Given the description of an element on the screen output the (x, y) to click on. 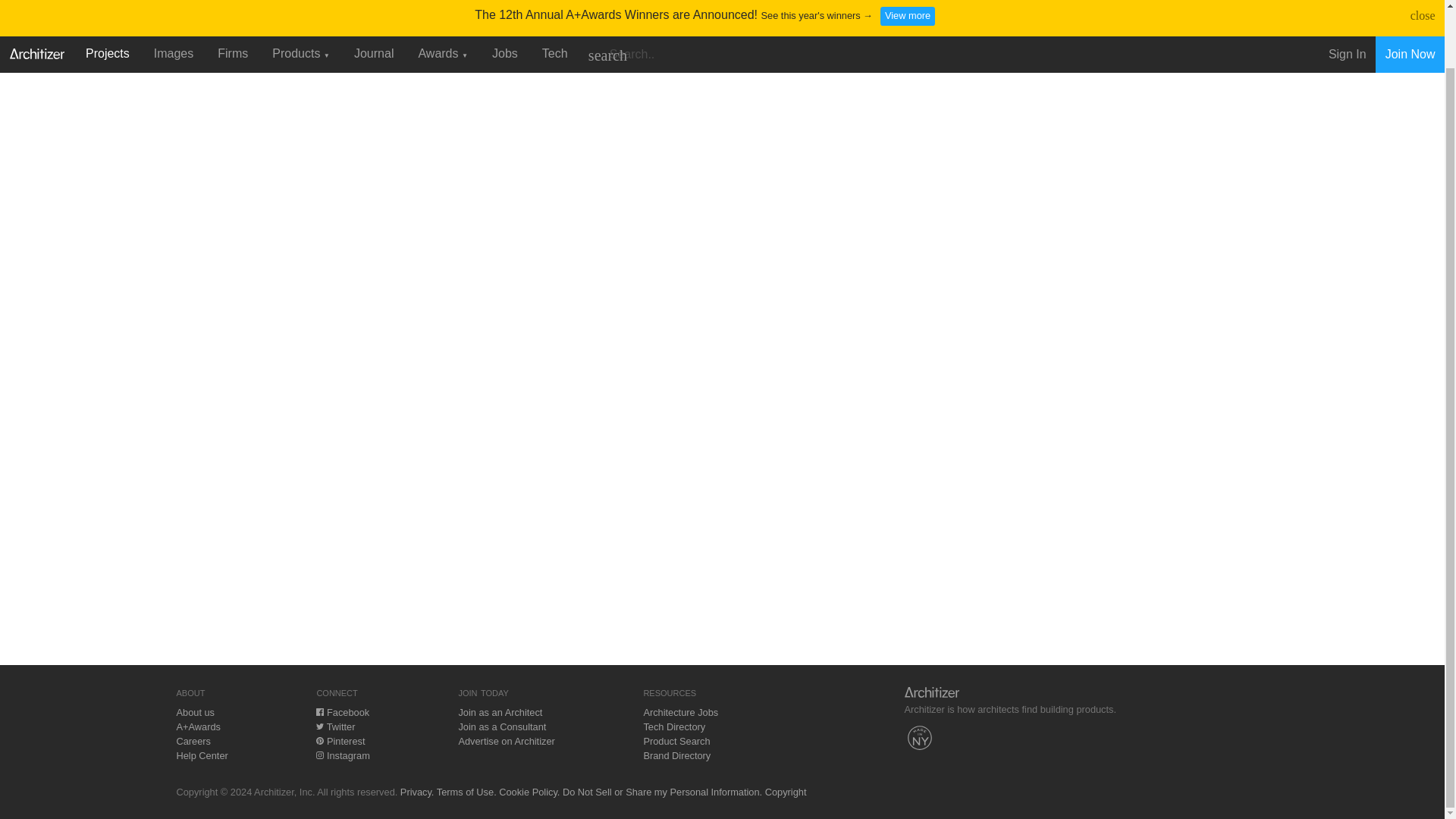
Architecture Jobs (680, 712)
Facebook (342, 712)
Made in New York icon (919, 737)
Careers (193, 740)
Product Search (676, 740)
Advertise on Architizer (506, 740)
Sign In (1347, 4)
search (606, 4)
Journal (374, 2)
Instagram icon (319, 755)
